Given the description of an element on the screen output the (x, y) to click on. 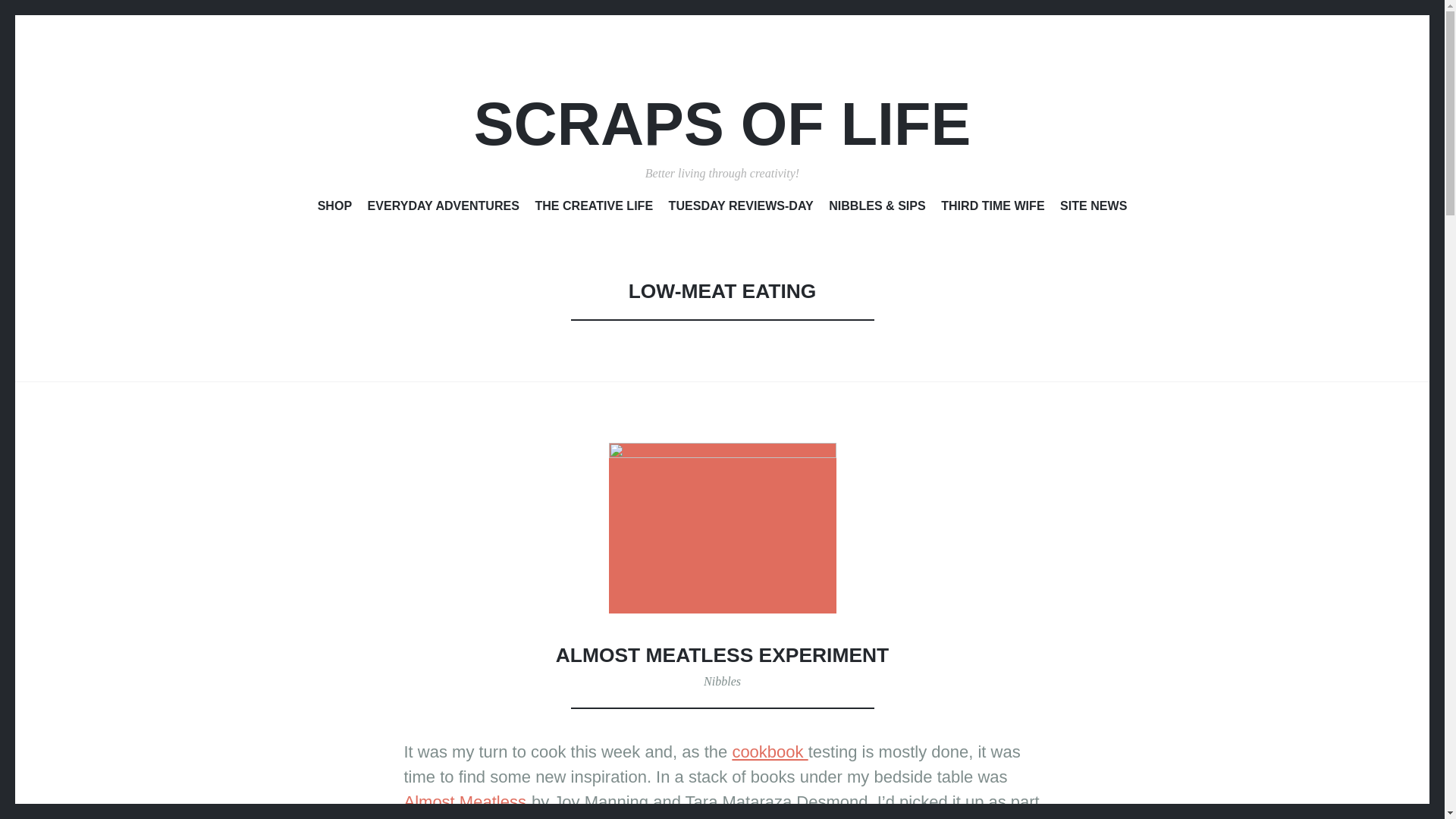
Almost Meatless (464, 801)
ALMOST MEATLESS EXPERIMENT (722, 654)
SCRAPS OF LIFE (722, 123)
TUESDAY REVIEWS-DAY (740, 208)
Nibbles (722, 680)
EVERYDAY ADVENTURES (443, 208)
THE CREATIVE LIFE (593, 208)
SITE NEWS (1092, 208)
THIRD TIME WIFE (991, 208)
SHOP (334, 208)
cookbook (770, 751)
